Given the description of an element on the screen output the (x, y) to click on. 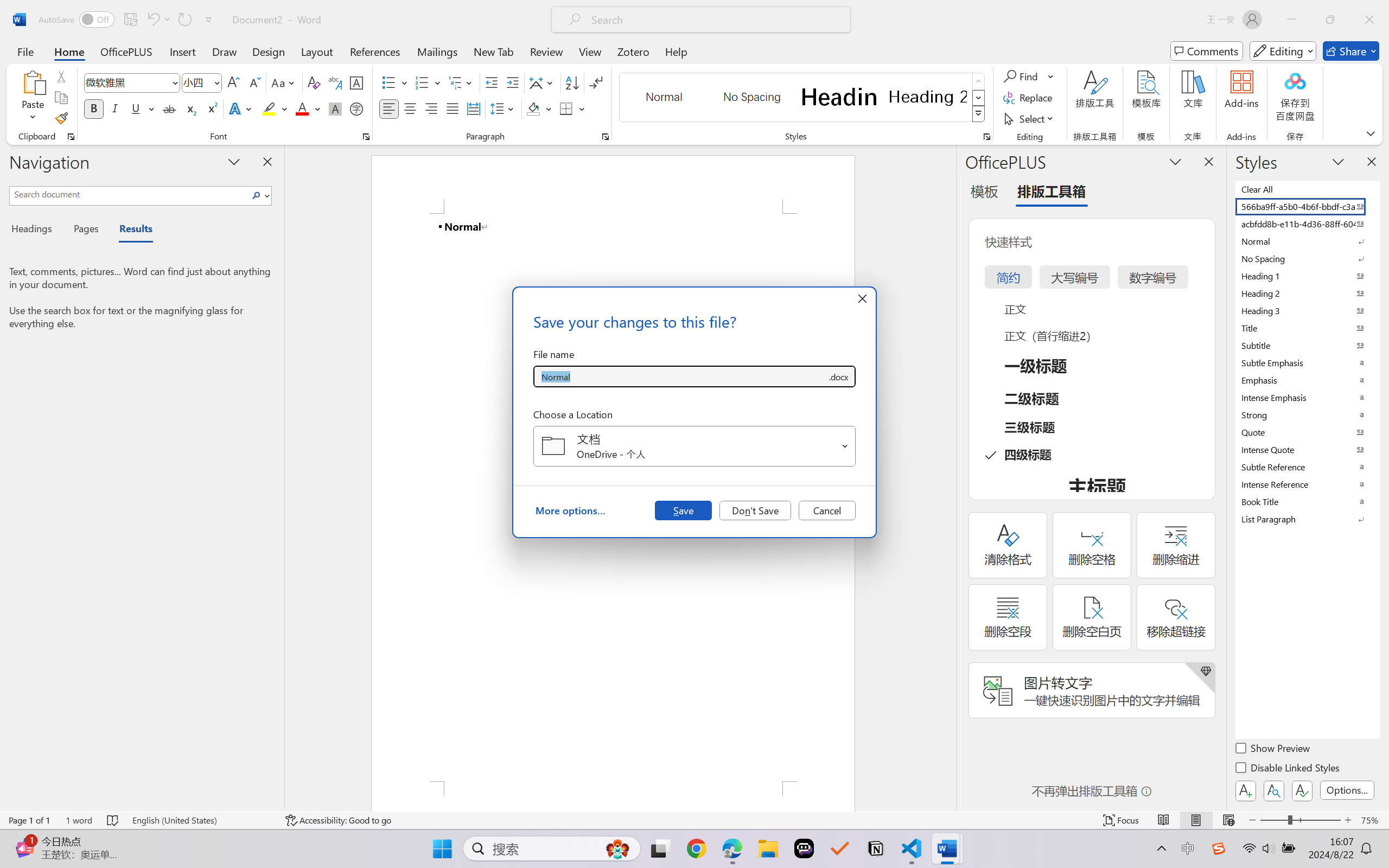
Subtle Reference (1306, 466)
Office Clipboard... (70, 136)
Customize Quick Access Toolbar (208, 19)
Poe (804, 848)
Numbering (428, 82)
Borders (571, 108)
Class: NetUIImage (978, 114)
